Given the description of an element on the screen output the (x, y) to click on. 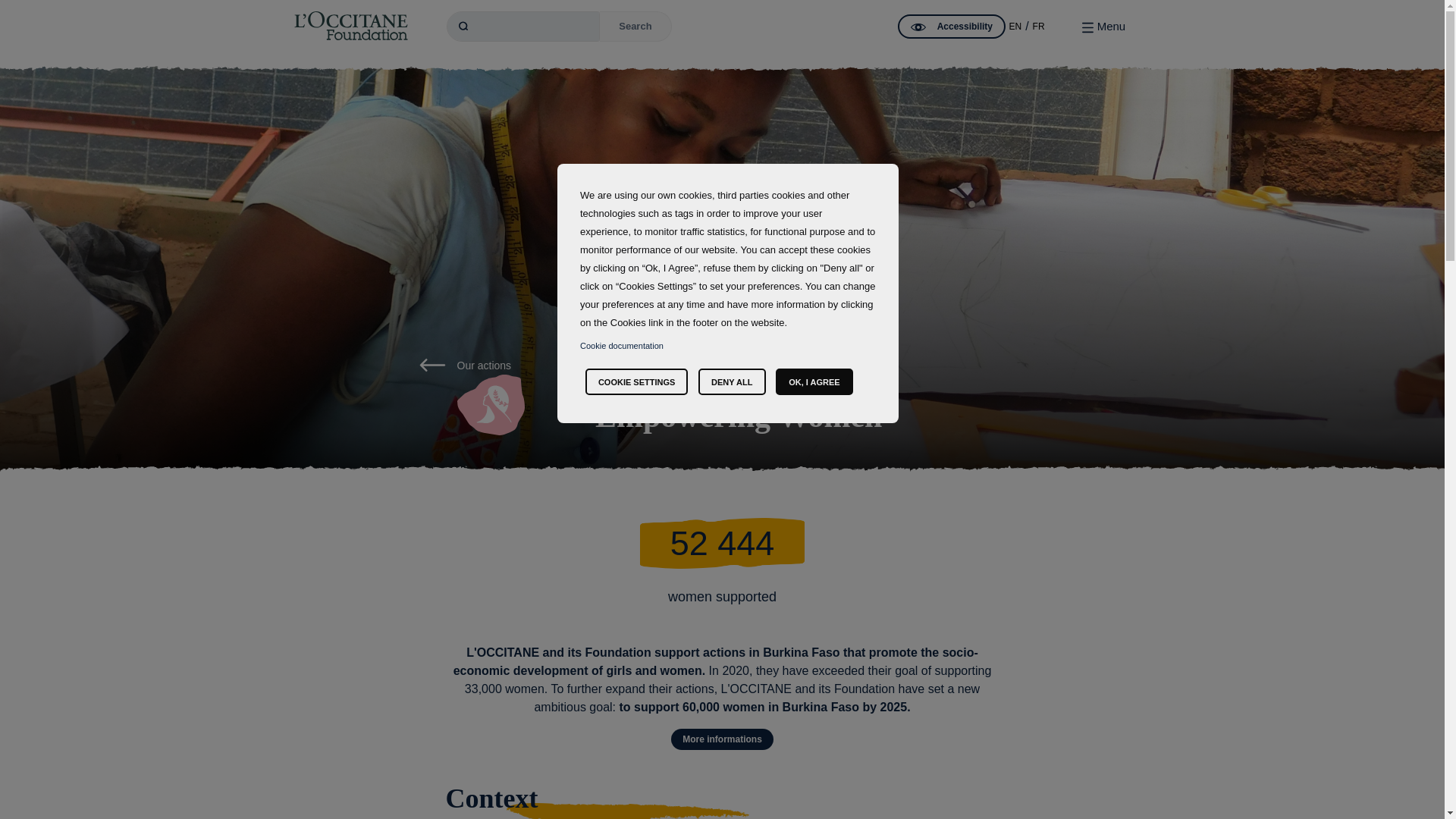
DENY ALL (731, 381)
Submit site search (635, 26)
L'OCCITANE Foundation - Back home (349, 25)
More informations (722, 739)
Site search (522, 26)
EN (1015, 26)
English version (1015, 26)
Accessibility (952, 26)
Search (635, 26)
OK, I AGREE (813, 381)
